Given the description of an element on the screen output the (x, y) to click on. 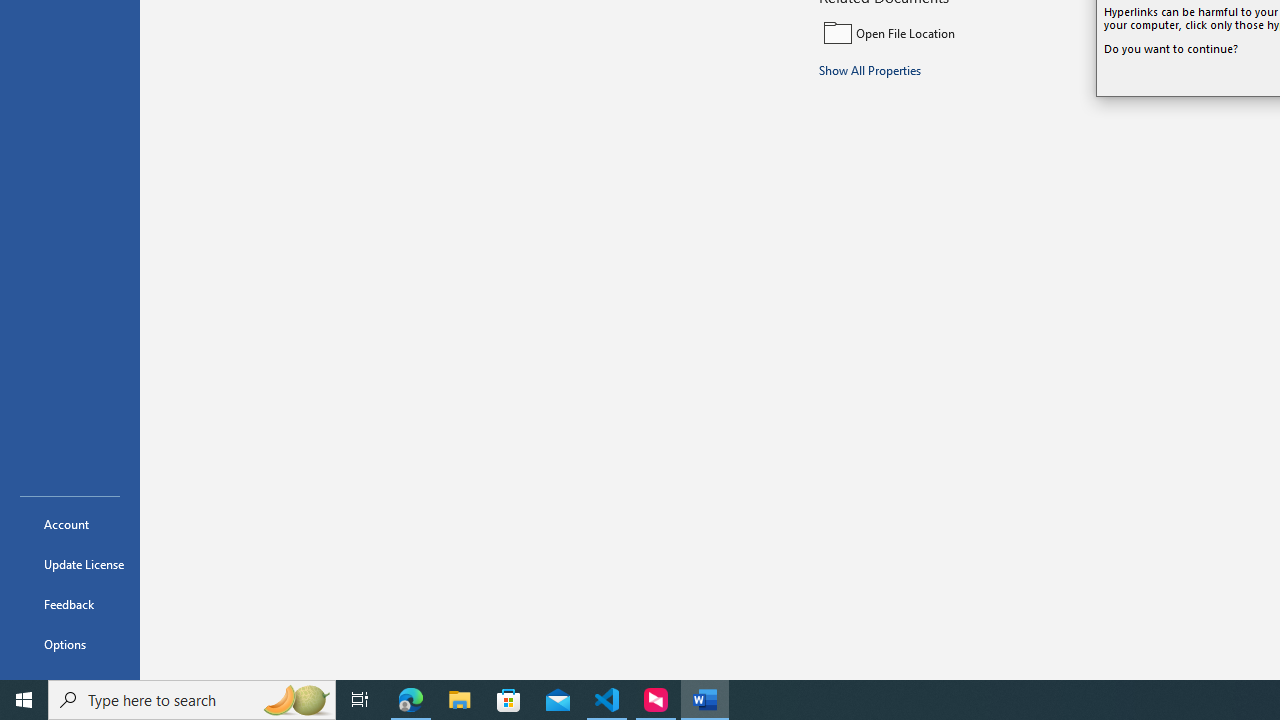
Microsoft Store (509, 699)
Show All Properties (870, 69)
